Given the description of an element on the screen output the (x, y) to click on. 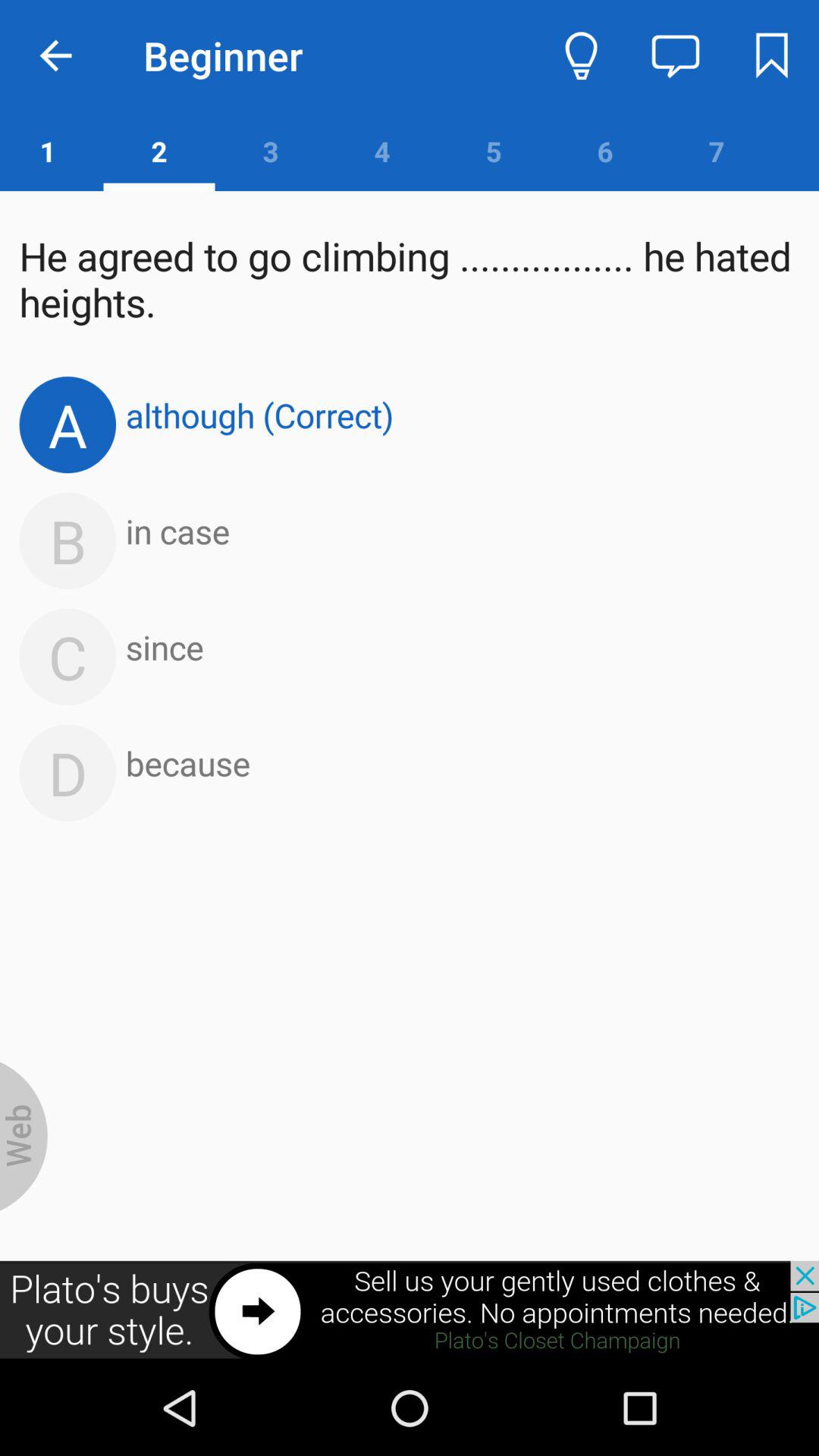
click advertisement (409, 1310)
